Given the description of an element on the screen output the (x, y) to click on. 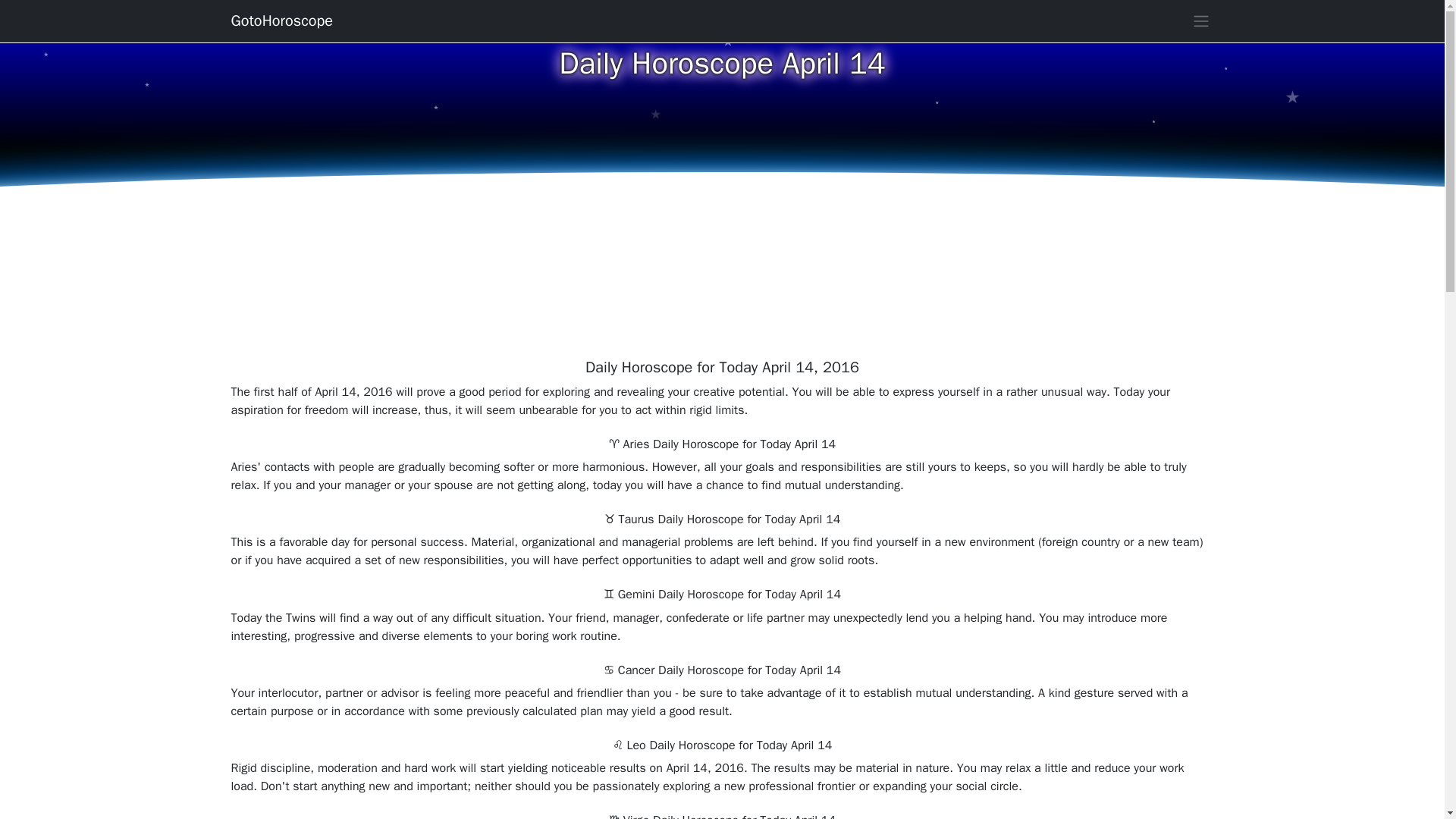
Goto Horoscope Home (281, 20)
GotoHoroscope (281, 20)
